Given the description of an element on the screen output the (x, y) to click on. 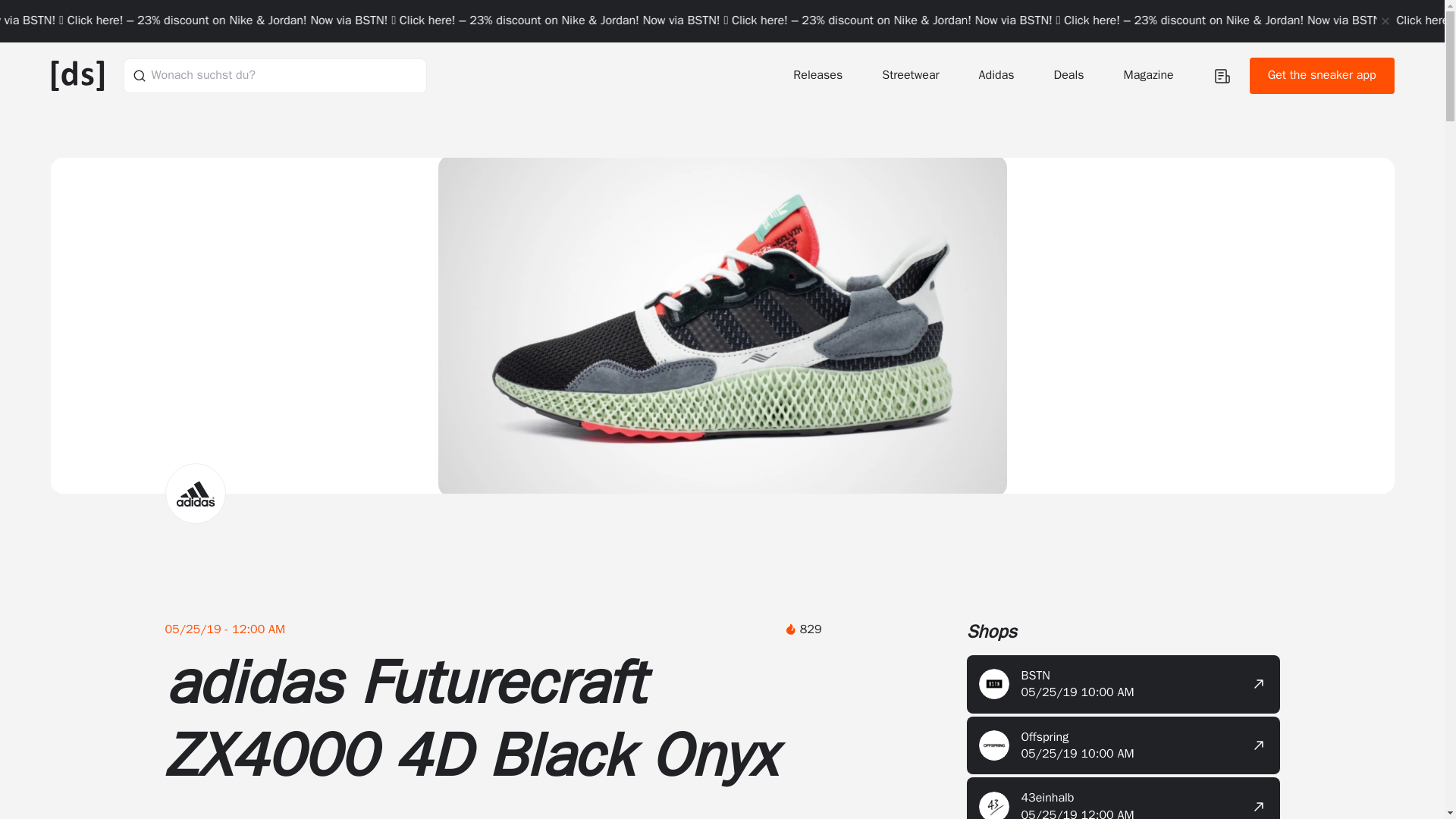
Streetwear (912, 74)
Deals (1070, 74)
Get the sneaker app (1321, 75)
Wonach suchst du? (274, 75)
Releases (819, 74)
Magazine (1150, 74)
Adidas (997, 74)
